Given the description of an element on the screen output the (x, y) to click on. 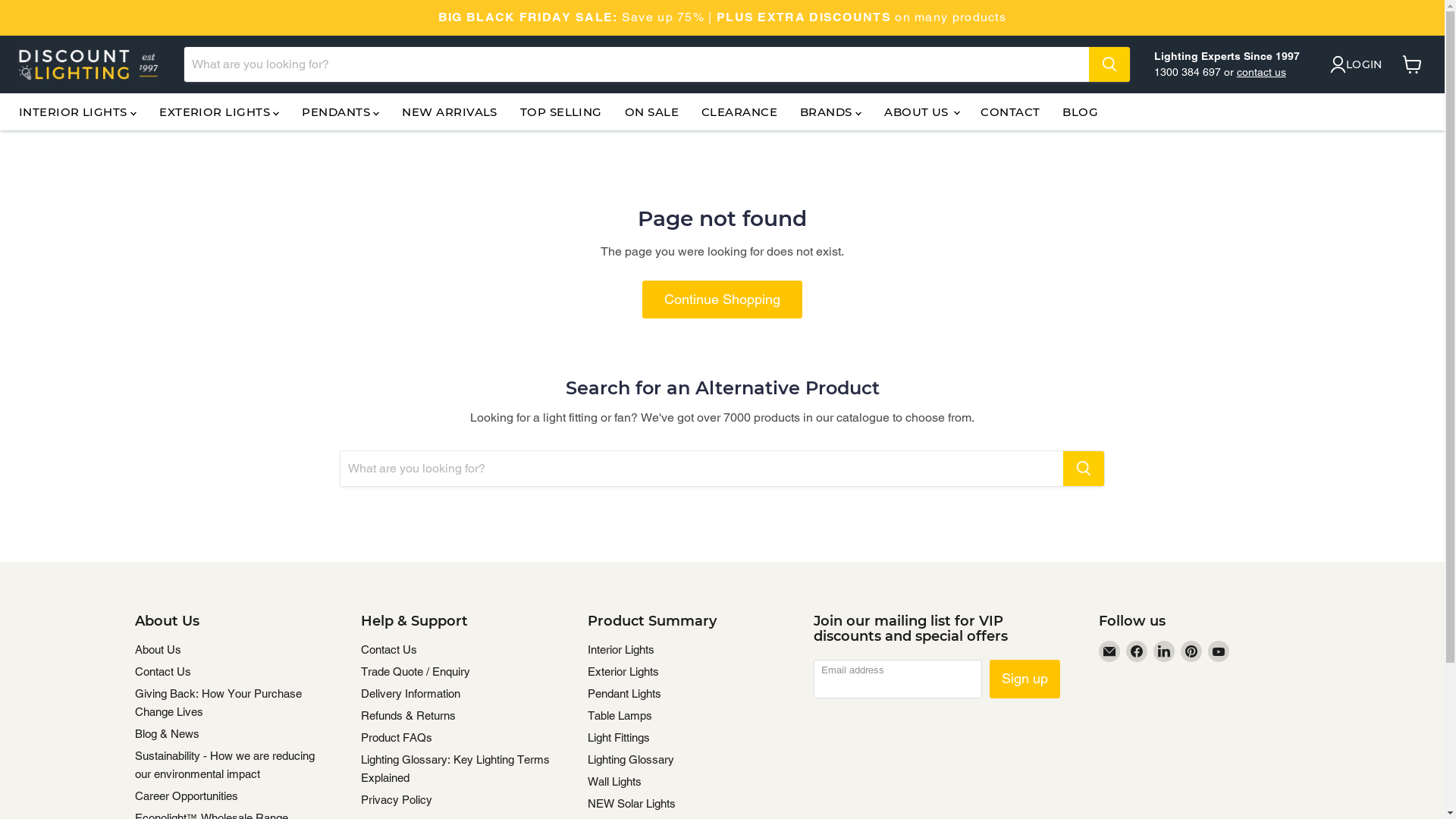
NEW Solar Lights Element type: text (630, 803)
Giving Back: How Your Purchase Change Lives Element type: text (217, 702)
contact us Element type: text (1261, 71)
Contact Us Element type: text (388, 649)
Continue Shopping Element type: text (722, 299)
Trade Quote / Enquiry Element type: text (415, 671)
Pendant Lights Element type: text (623, 693)
Find us on LinkedIn Element type: text (1163, 651)
View cart Element type: text (1416, 68)
Interior Lights Element type: text (619, 649)
Table Lamps Element type: text (618, 715)
Blog & News Element type: text (166, 733)
Sign up Element type: text (1024, 678)
Privacy Policy Element type: text (396, 799)
About Us Element type: text (157, 649)
ON SALE Element type: text (651, 112)
Delivery Information Element type: text (410, 693)
Find us on YouTube Element type: text (1218, 651)
LOGIN Element type: text (1356, 64)
Refunds & Returns Element type: text (407, 715)
Email Discount Lighting Element type: text (1109, 651)
TOP SELLING Element type: text (560, 112)
Find us on Facebook Element type: text (1136, 651)
NEW ARRIVALS Element type: text (449, 112)
Light Fittings Element type: text (617, 737)
Find us on Pinterest Element type: text (1190, 651)
Wall Lights Element type: text (613, 781)
CLEARANCE Element type: text (739, 112)
Lighting Glossary: Key Lighting Terms Explained Element type: text (454, 768)
Product FAQs Element type: text (396, 737)
BLOG Element type: text (1080, 112)
CONTACT Element type: text (1010, 112)
Lighting Glossary Element type: text (629, 759)
Contact Us Element type: text (162, 671)
Career Opportunities Element type: text (186, 795)
Exterior Lights Element type: text (622, 671)
Lighting Experts Since 1997 Element type: text (1226, 56)
